Given the description of an element on the screen output the (x, y) to click on. 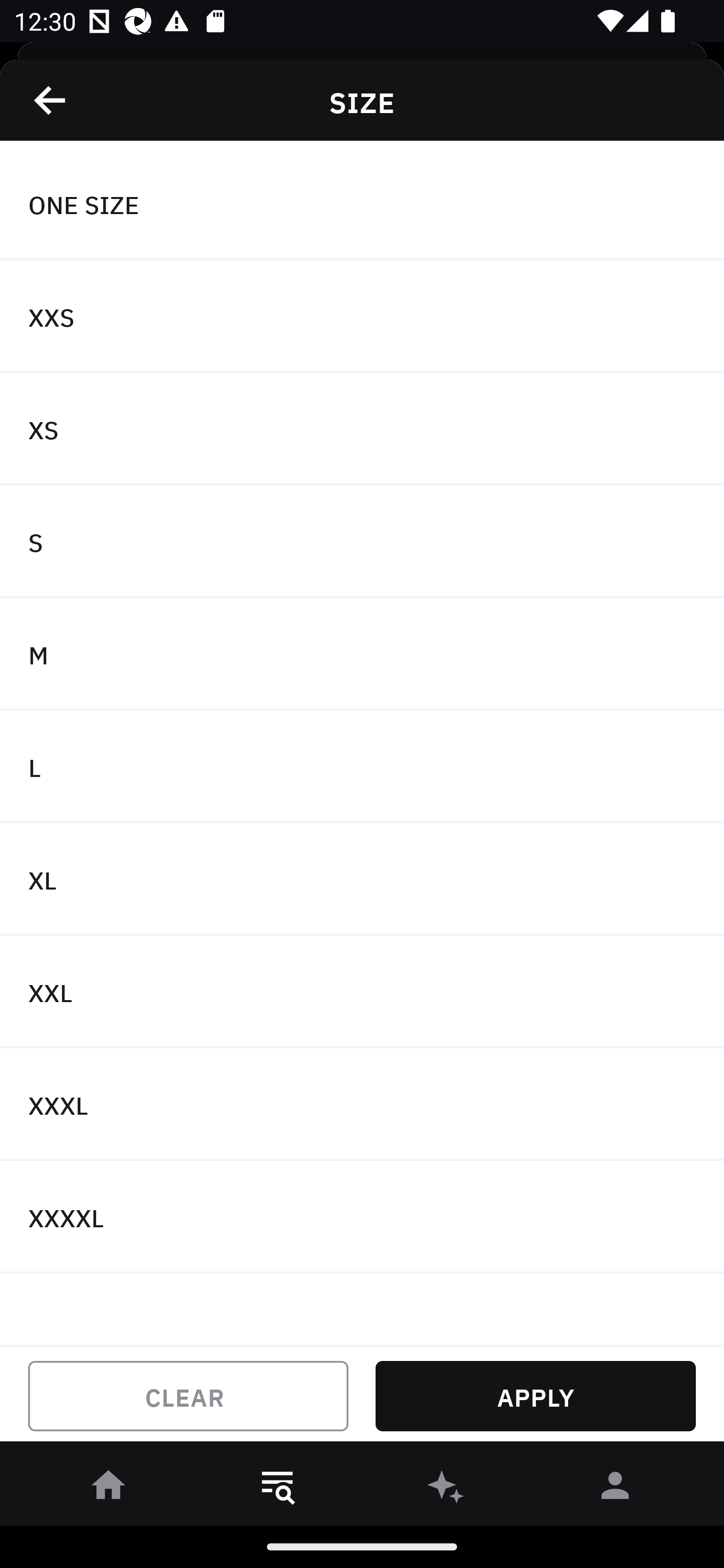
 (50, 100)
ONE SIZE (362, 203)
XXS (362, 316)
XS (362, 429)
S (362, 541)
M (362, 653)
L (362, 766)
XL (362, 879)
XXL (362, 992)
XXXL (362, 1104)
XXXXL (362, 1216)
CLEAR  (188, 1396)
APPLY (535, 1396)
󰋜 (108, 1488)
󱎸 (277, 1488)
󰫢 (446, 1488)
󰀄 (615, 1488)
